Given the description of an element on the screen output the (x, y) to click on. 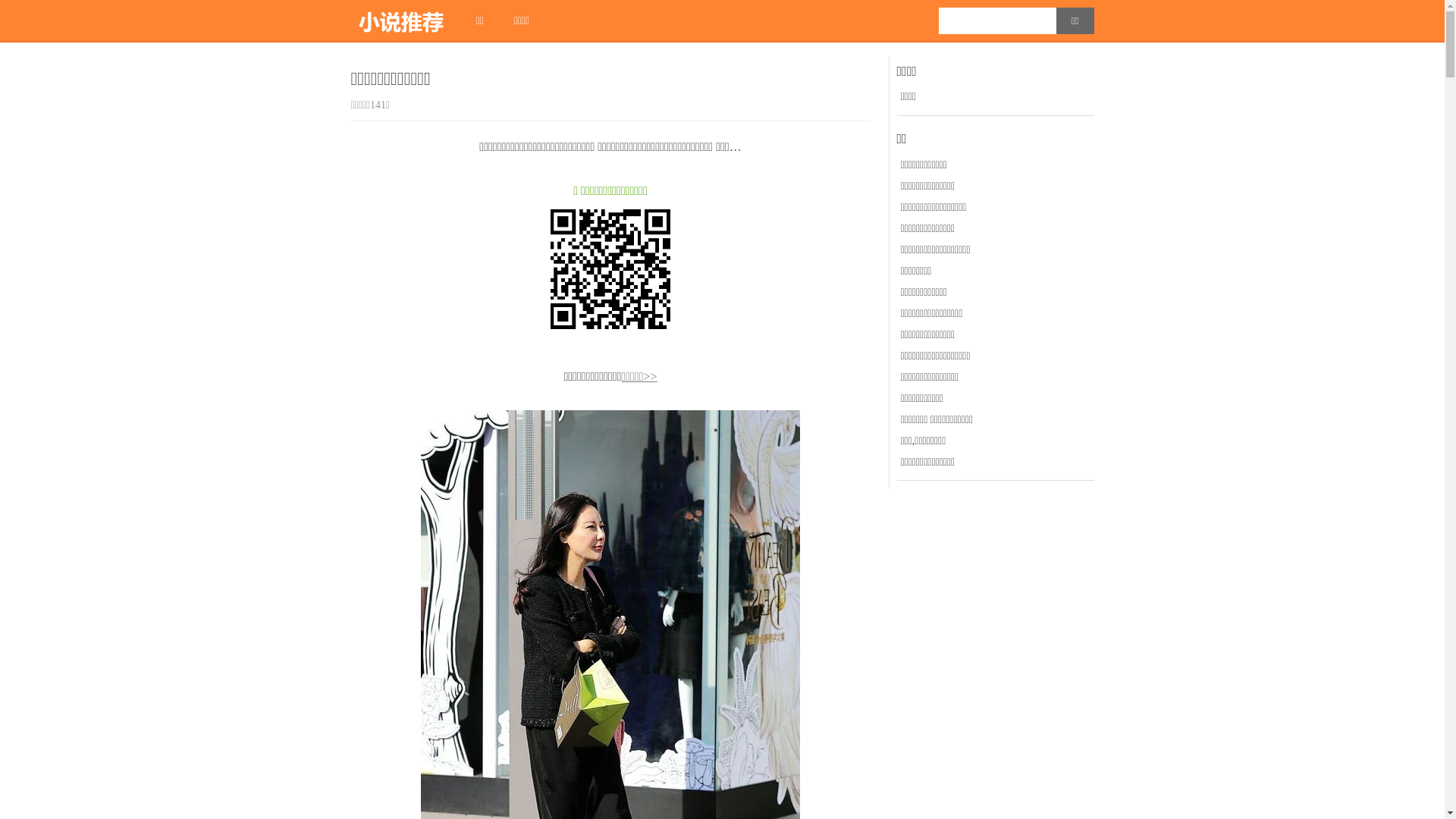
http://go.uber99.com/u/b4 Element type: hover (609, 269)
